Given the description of an element on the screen output the (x, y) to click on. 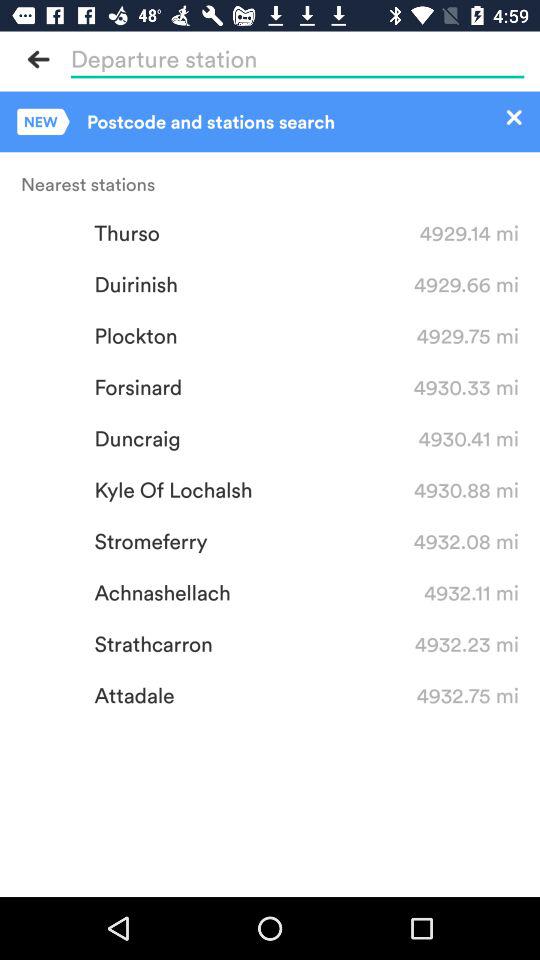
enter departure station name (297, 59)
